Given the description of an element on the screen output the (x, y) to click on. 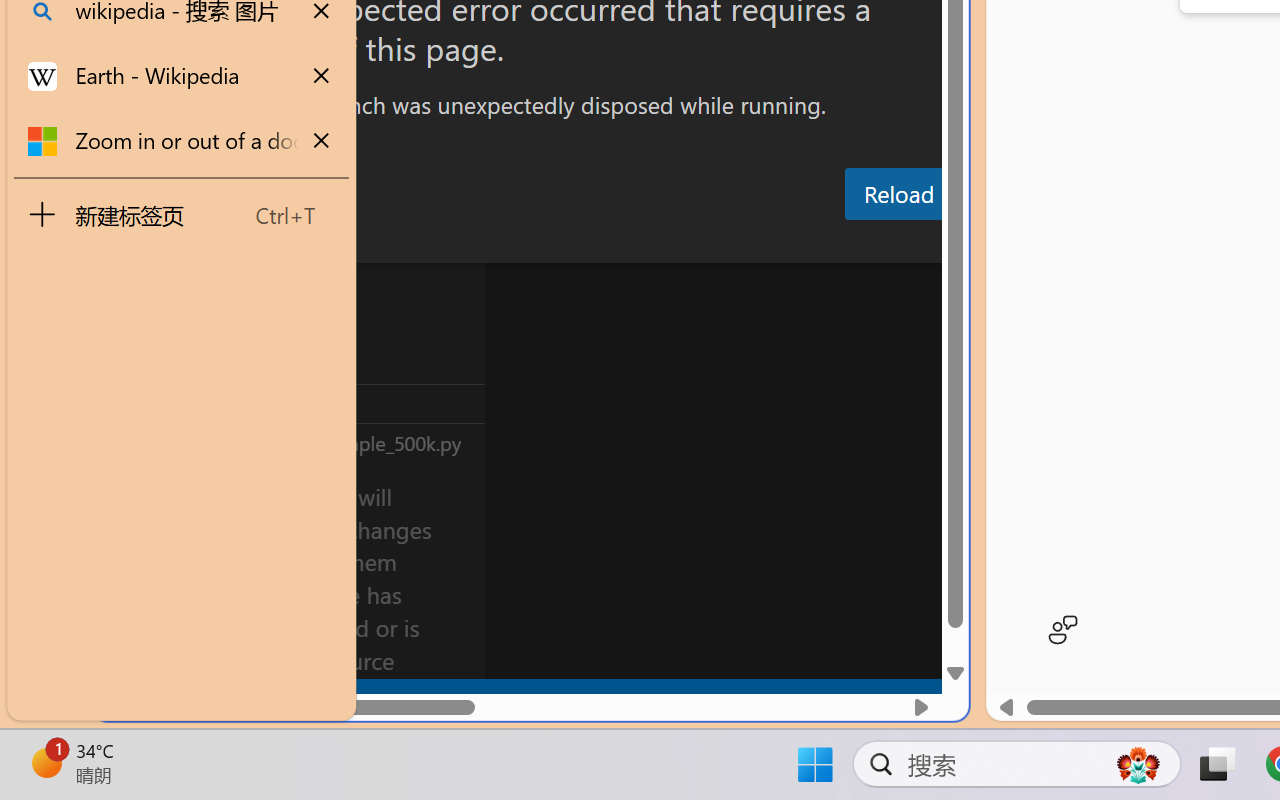
Accounts - Sign in requested (135, 548)
Timeline Section (331, 442)
remote (122, 698)
Outline Section (331, 403)
Earth - Wikipedia (181, 75)
